Given the description of an element on the screen output the (x, y) to click on. 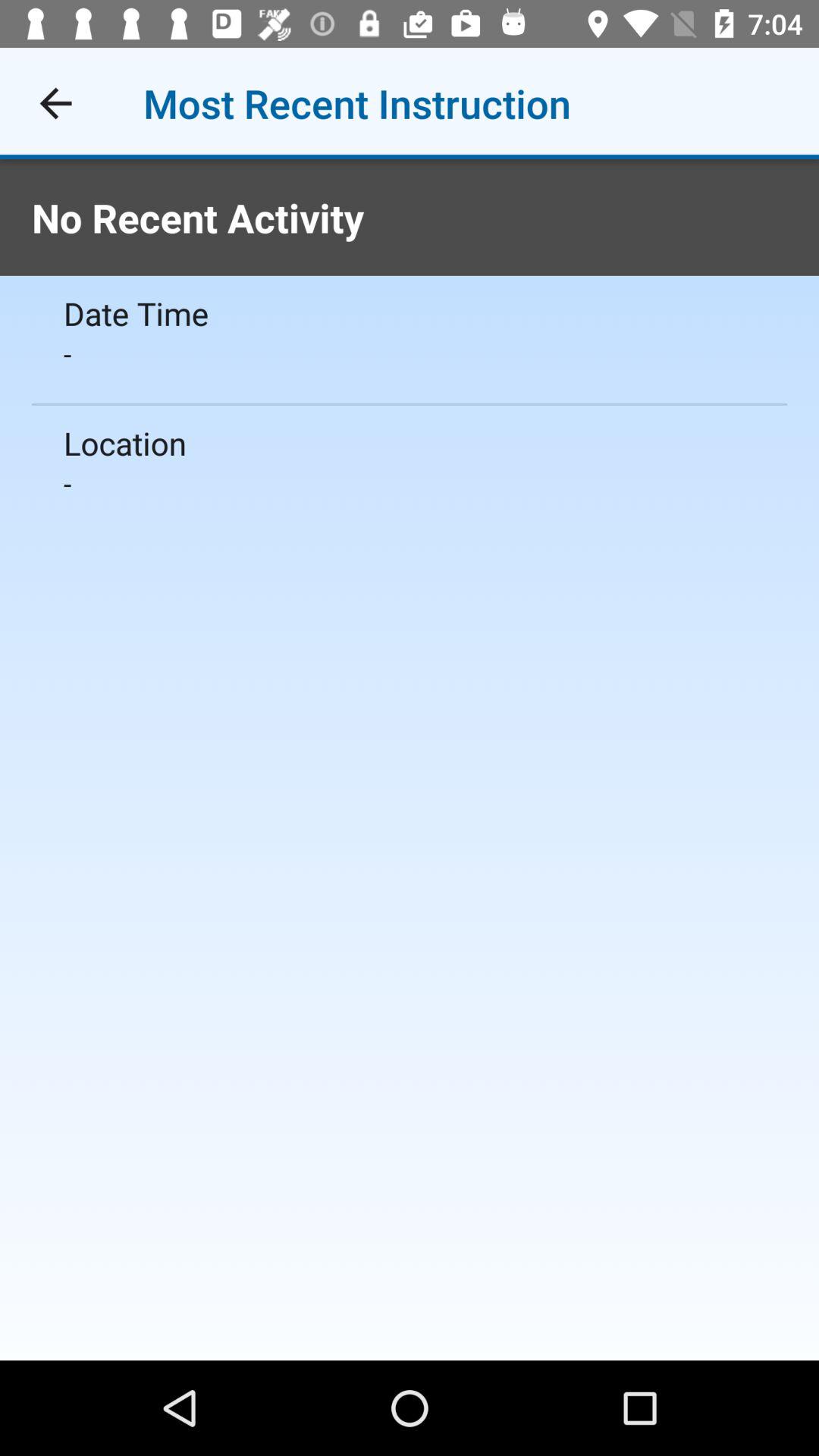
tap the - icon (409, 353)
